Given the description of an element on the screen output the (x, y) to click on. 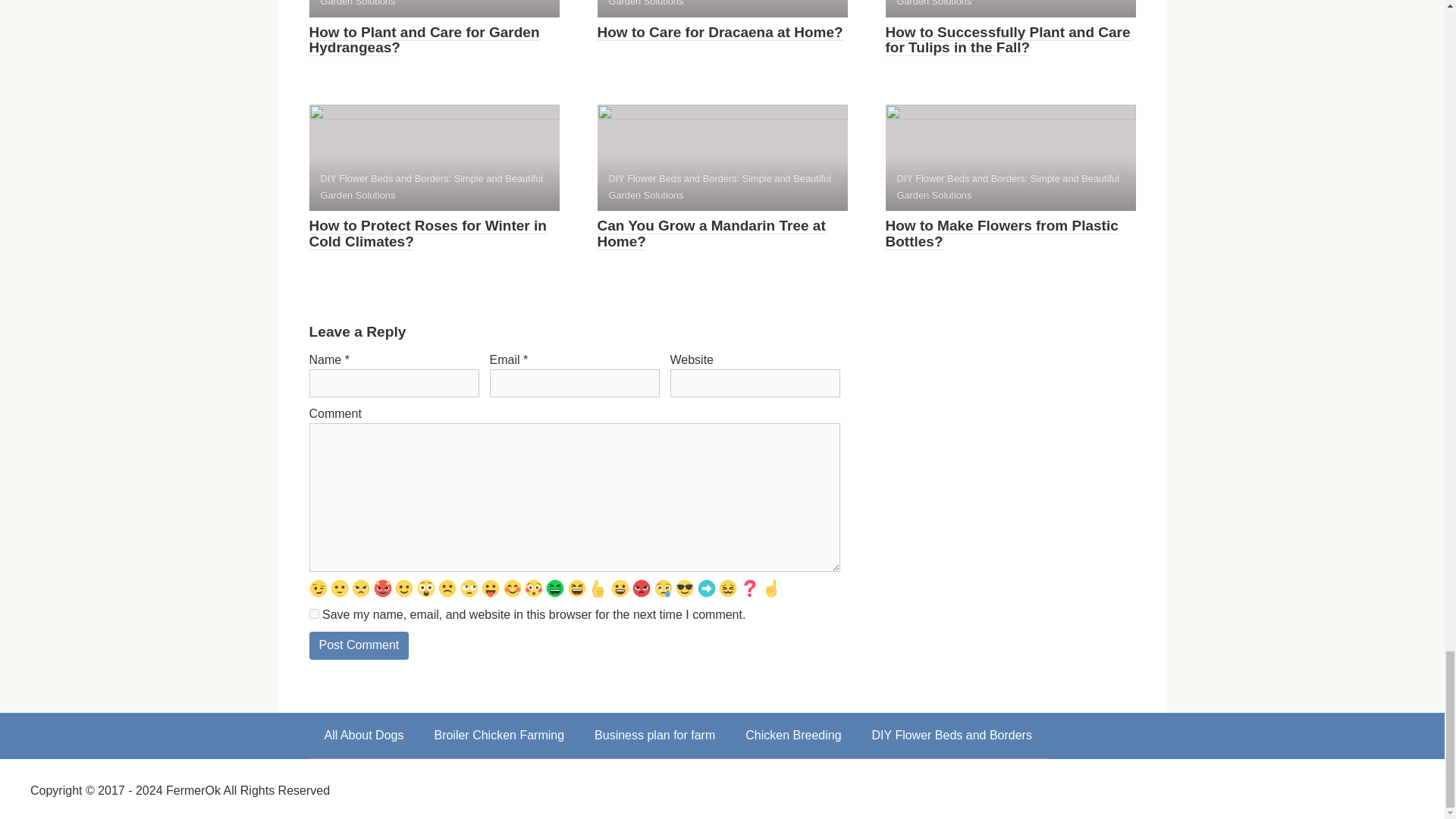
Broiler Chicken Farming (499, 735)
How to Make Flowers from Plastic Bottles? (1001, 233)
yes (313, 614)
Chicken Breeding (793, 735)
How to Care for Dracaena at Home? (719, 32)
How to Plant and Care for Garden Hydrangeas? (424, 40)
How to Successfully Plant and Care for Tulips in the Fall? (1008, 40)
